Given the description of an element on the screen output the (x, y) to click on. 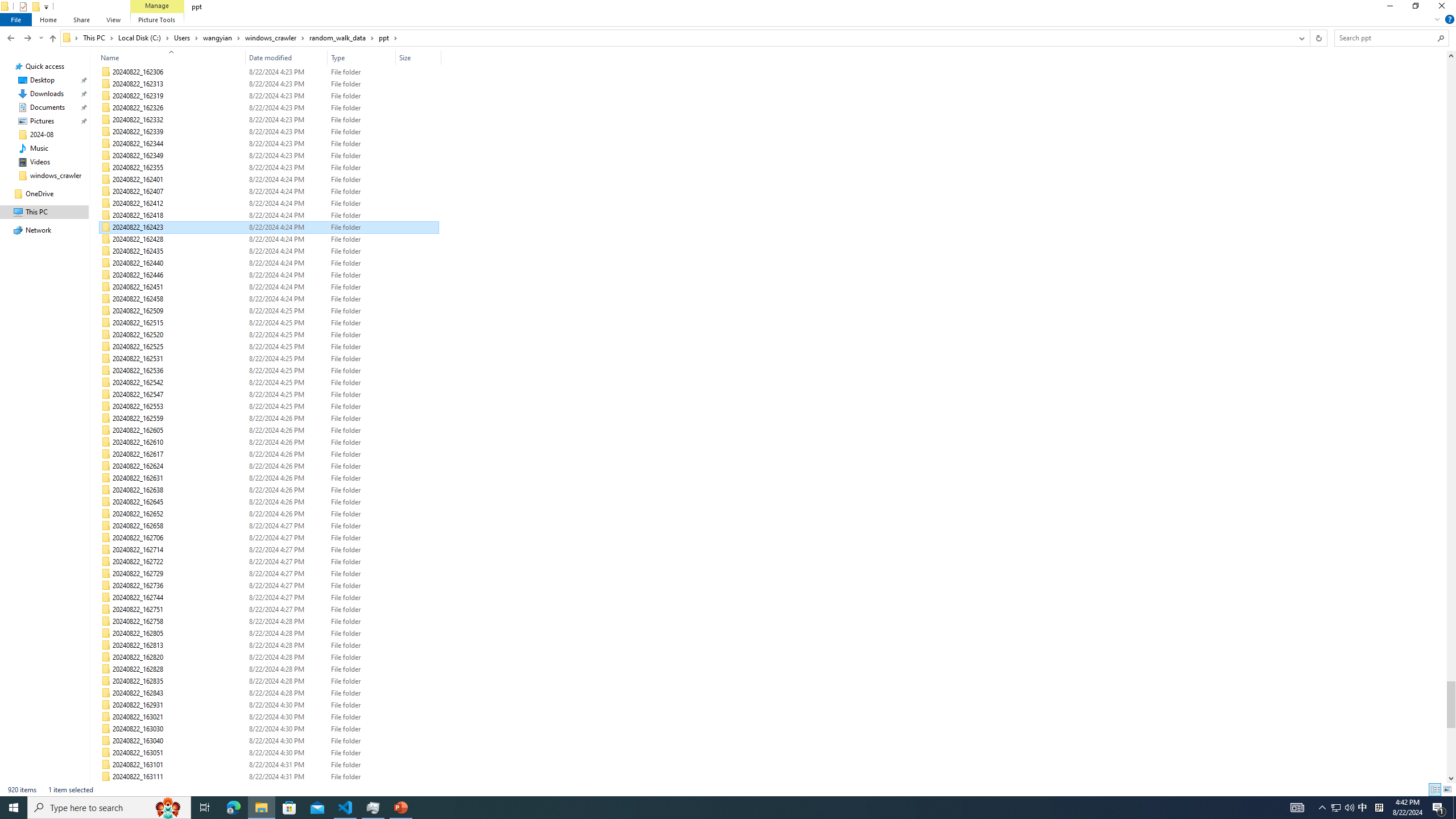
20240822_162418 (269, 215)
20240822_162820 (269, 657)
Size (418, 57)
20240822_162451 (269, 286)
20240822_162536 (269, 370)
Address band toolbar (1309, 37)
Date modified (286, 788)
20240822_162515 (269, 322)
20240822_162610 (269, 442)
Filter dropdown (436, 57)
Class: UIImage (106, 788)
20240822_162805 (269, 633)
